Given the description of an element on the screen output the (x, y) to click on. 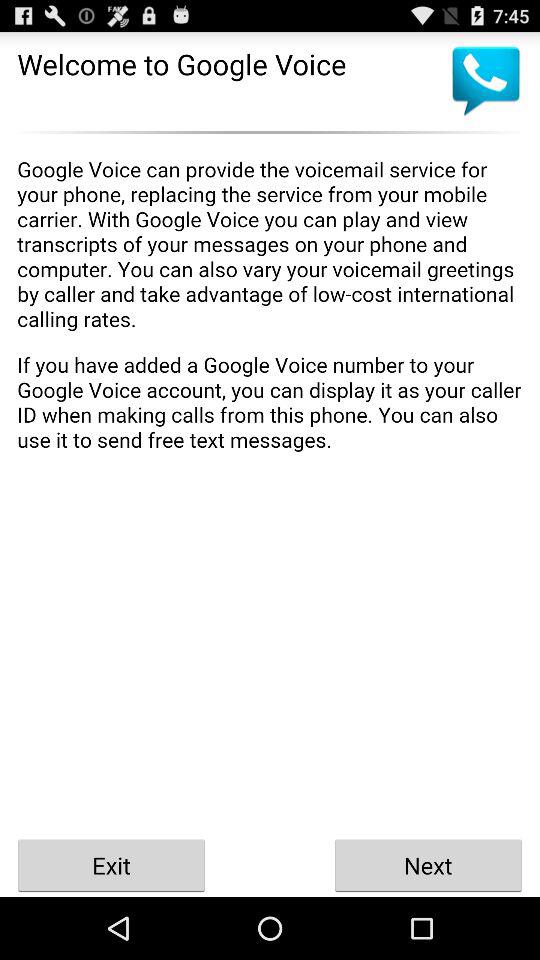
launch the icon next to the next button (111, 864)
